Given the description of an element on the screen output the (x, y) to click on. 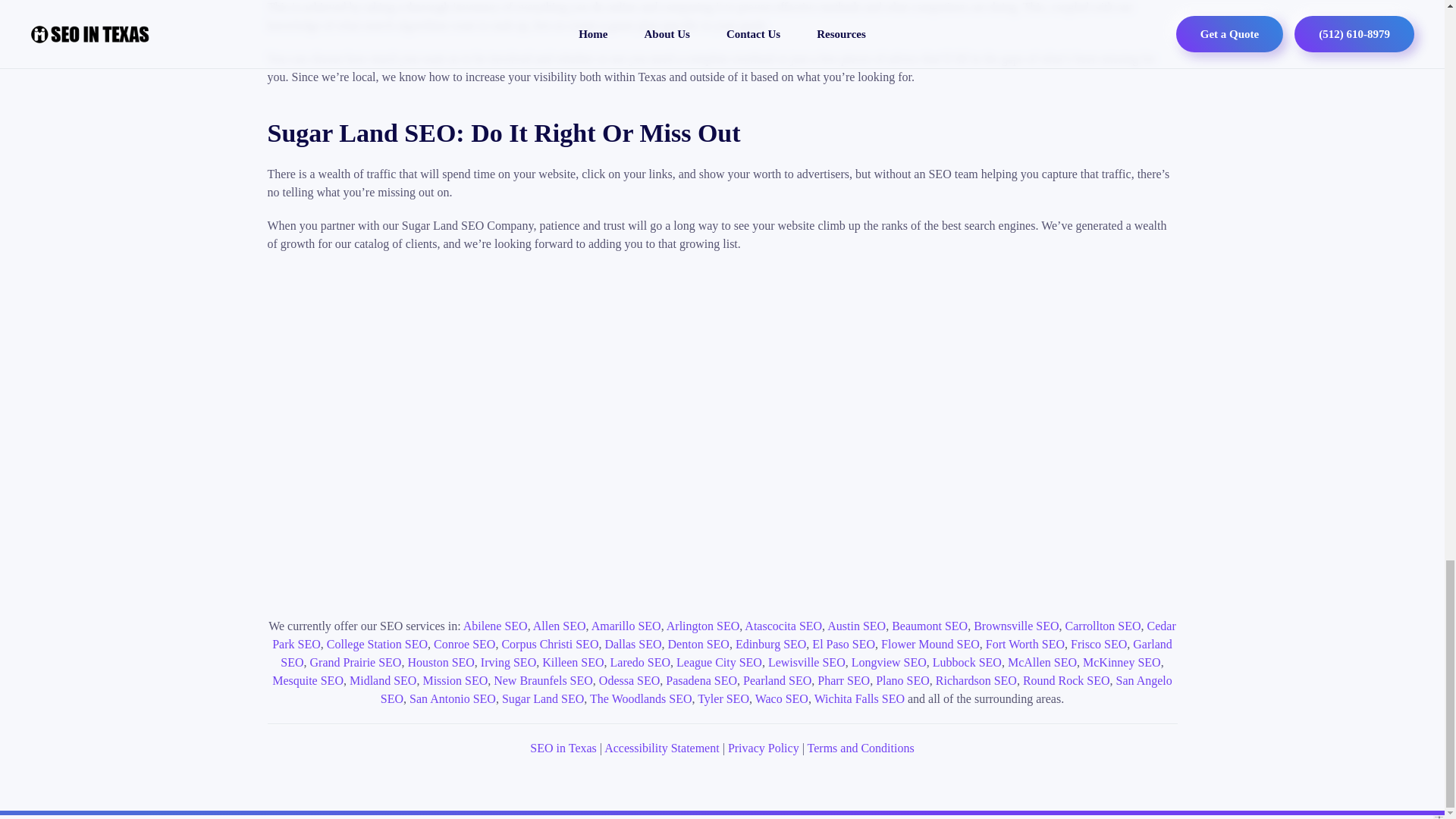
Abilene SEO (495, 625)
College Station SEO (377, 644)
Arlington SEO (702, 625)
Cedar Park SEO (724, 634)
Beaumont SEO (929, 625)
Corpus Christi SEO (549, 644)
Conroe SEO (464, 644)
Denton SEO (698, 644)
Edinburg SEO (770, 644)
Flower Mound SEO (929, 644)
